Given the description of an element on the screen output the (x, y) to click on. 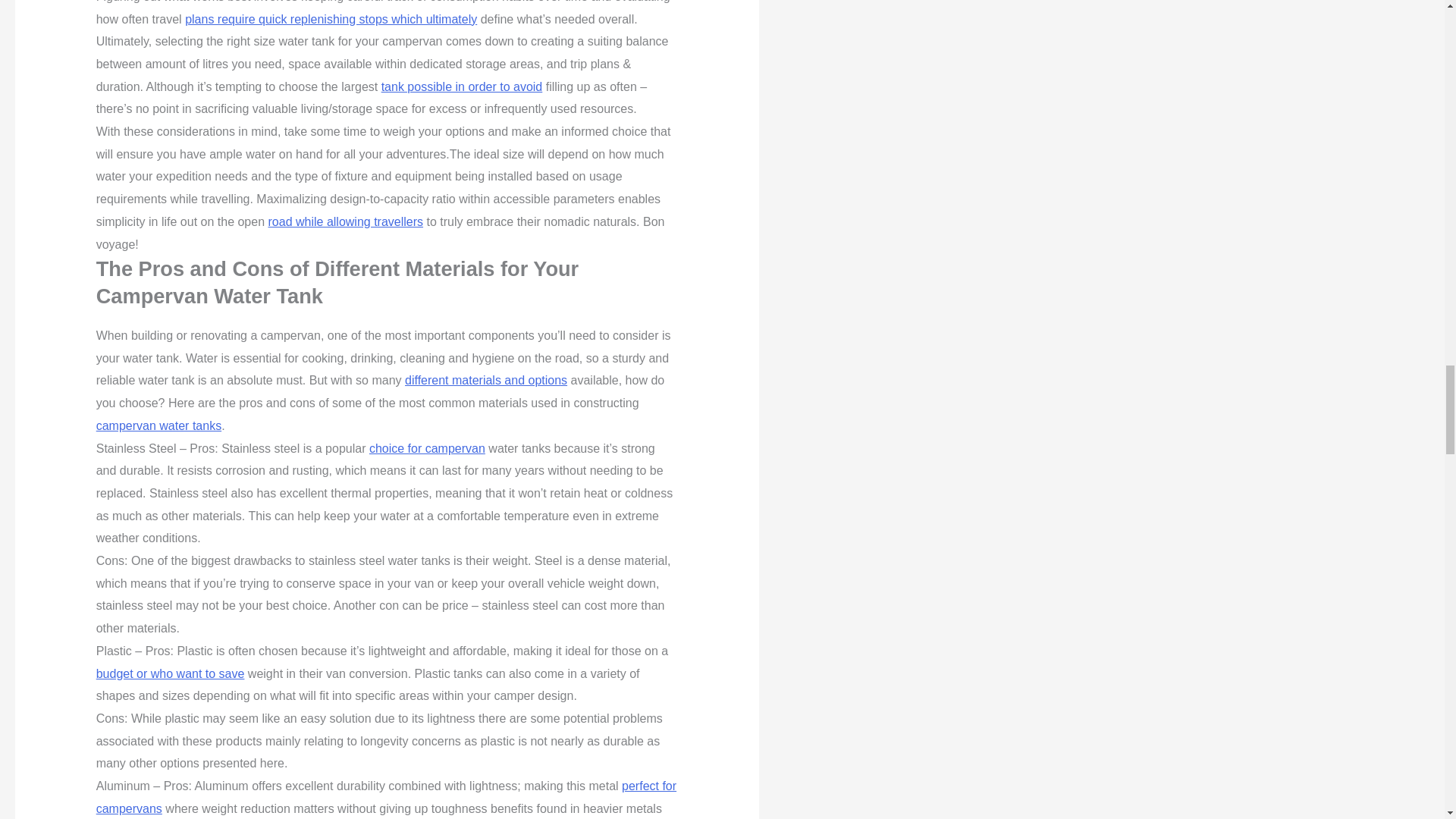
tank possible in order to avoid (462, 86)
plans require quick replenishing stops which ultimately (330, 19)
campervan water tanks (158, 425)
choice for campervan (426, 448)
budget or who want to save (170, 673)
perfect for campervans (386, 796)
road while allowing travellers (345, 221)
different materials and options (485, 379)
